Given the description of an element on the screen output the (x, y) to click on. 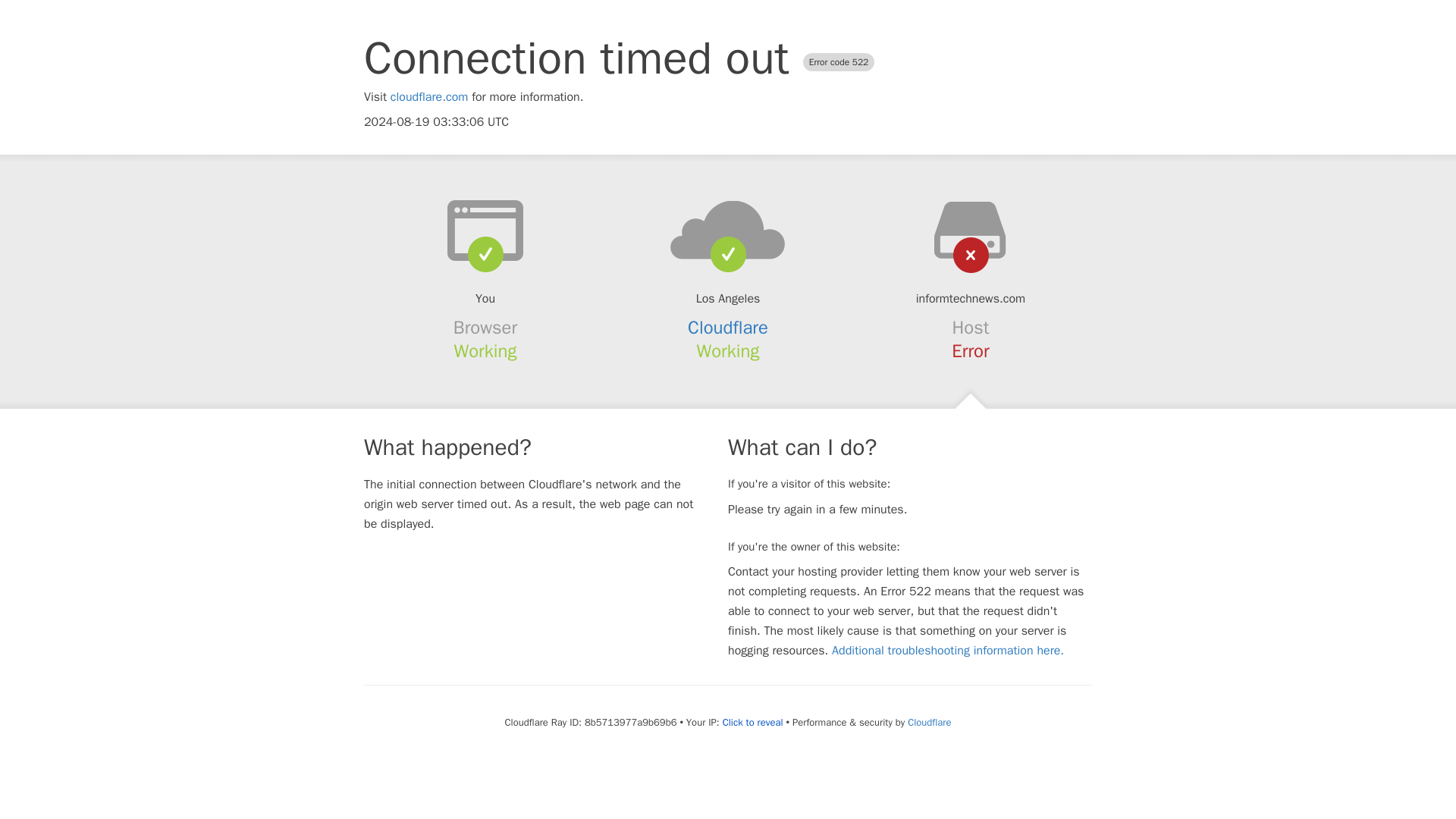
Additional troubleshooting information here. (947, 650)
Cloudflare (727, 327)
Click to reveal (752, 722)
Cloudflare (928, 721)
cloudflare.com (429, 96)
